Given the description of an element on the screen output the (x, y) to click on. 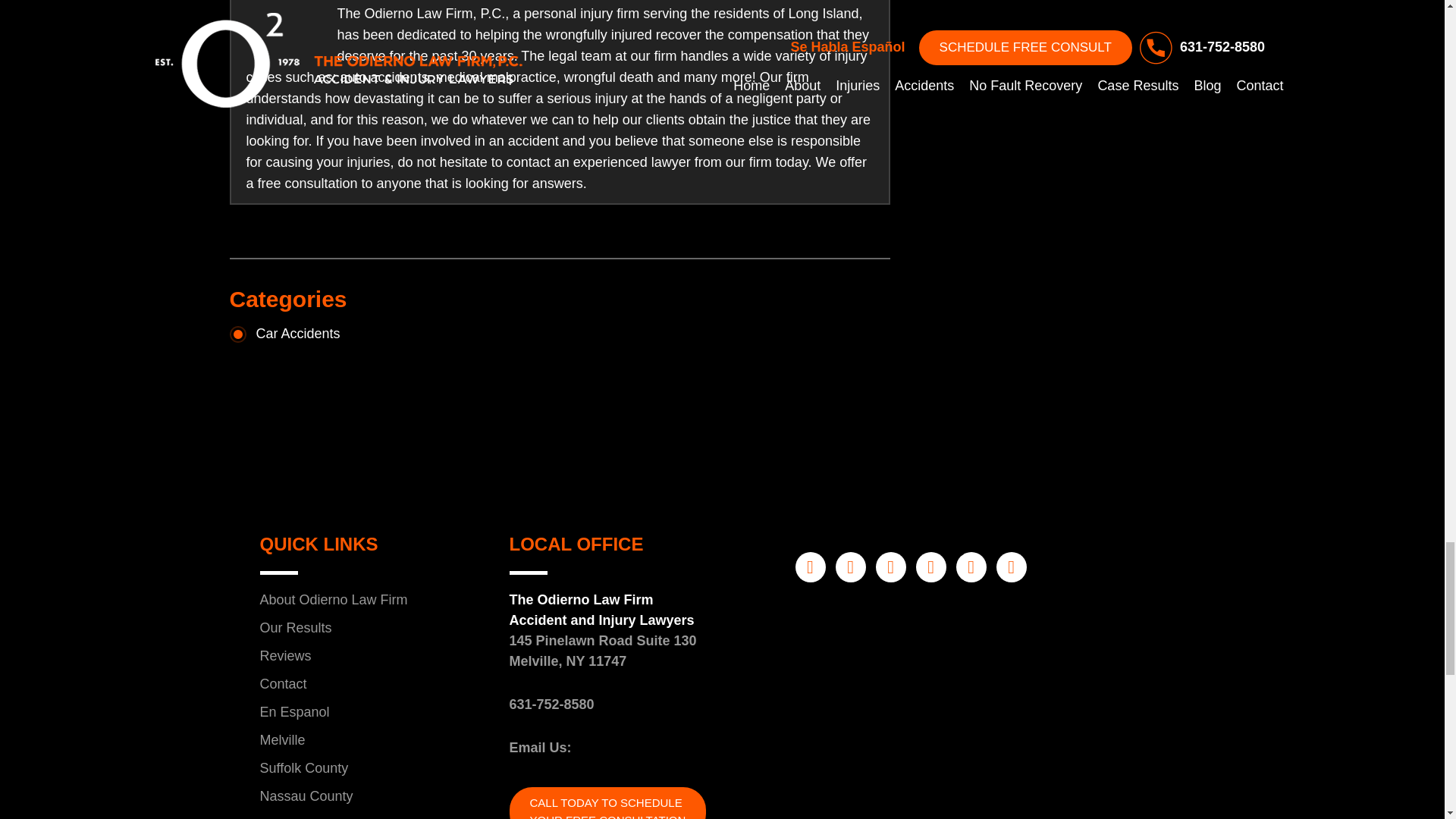
Default Label (890, 566)
Default Label (850, 566)
Facebook (809, 566)
Other Insurance Company Denied Accident Claim: What Now? (283, 25)
Instagram (930, 566)
